Given the description of an element on the screen output the (x, y) to click on. 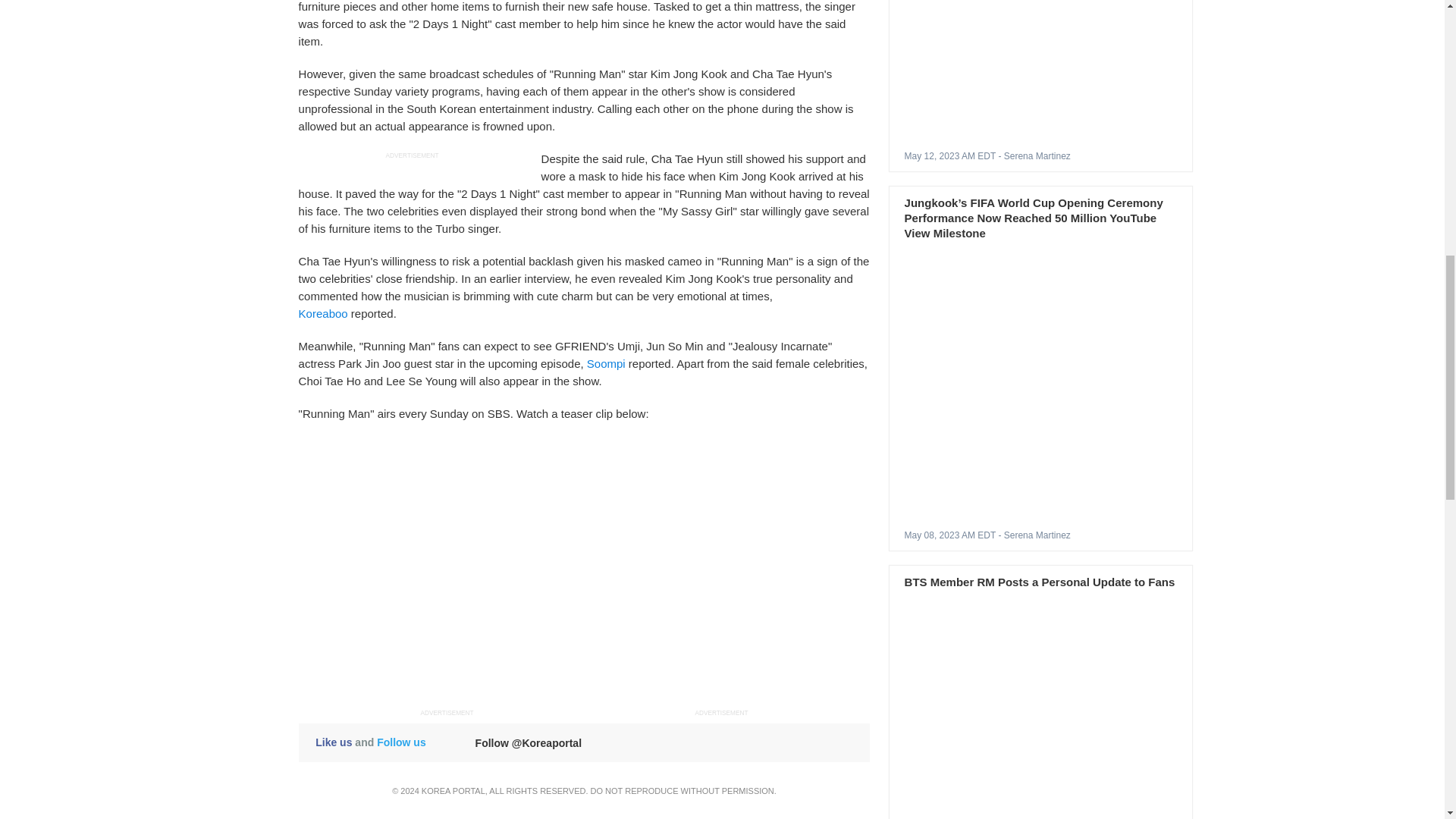
Soompi (606, 363)
Koreaboo (322, 313)
